Given the description of an element on the screen output the (x, y) to click on. 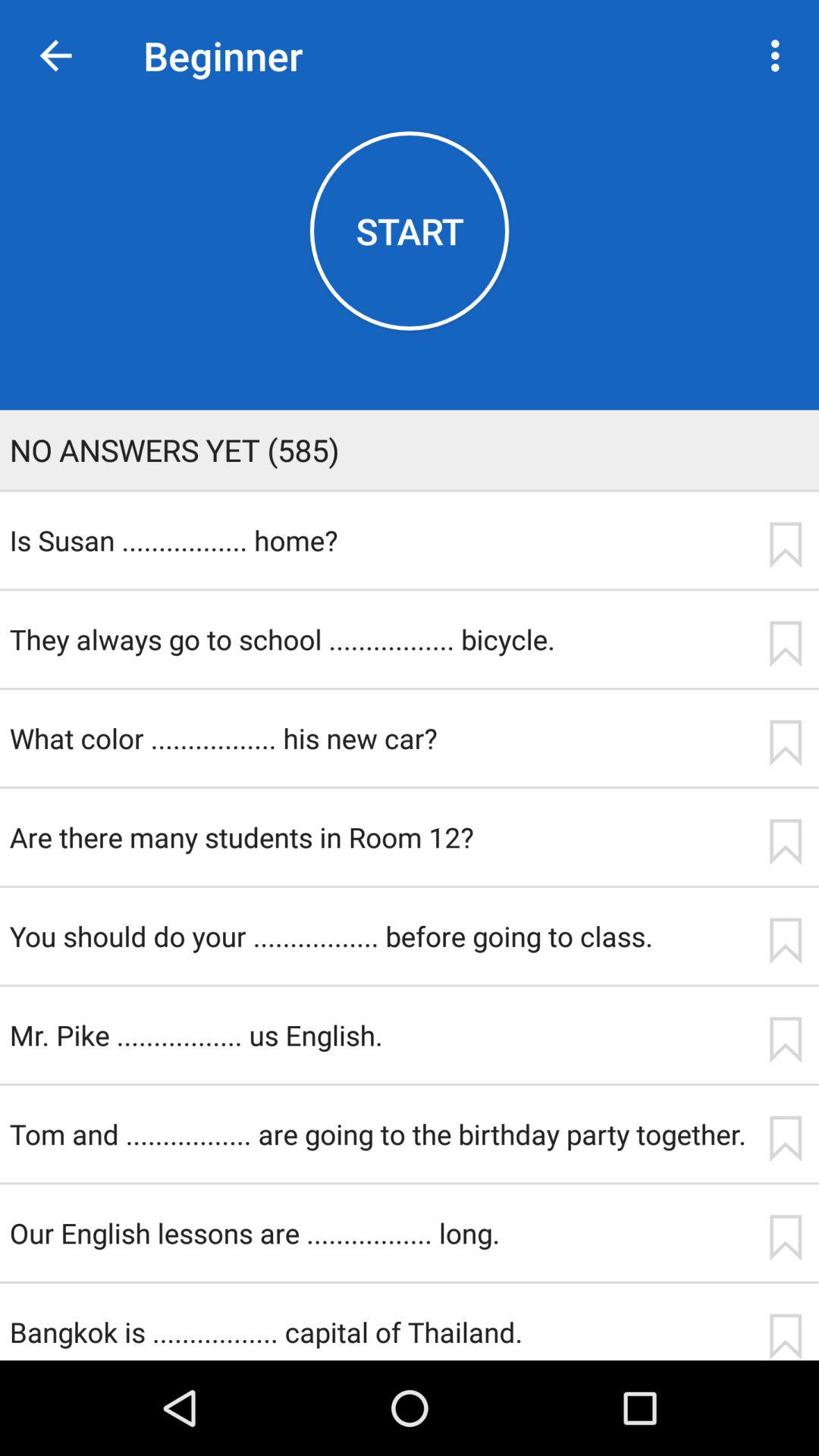
launch the item next to beginner item (779, 55)
